Given the description of an element on the screen output the (x, y) to click on. 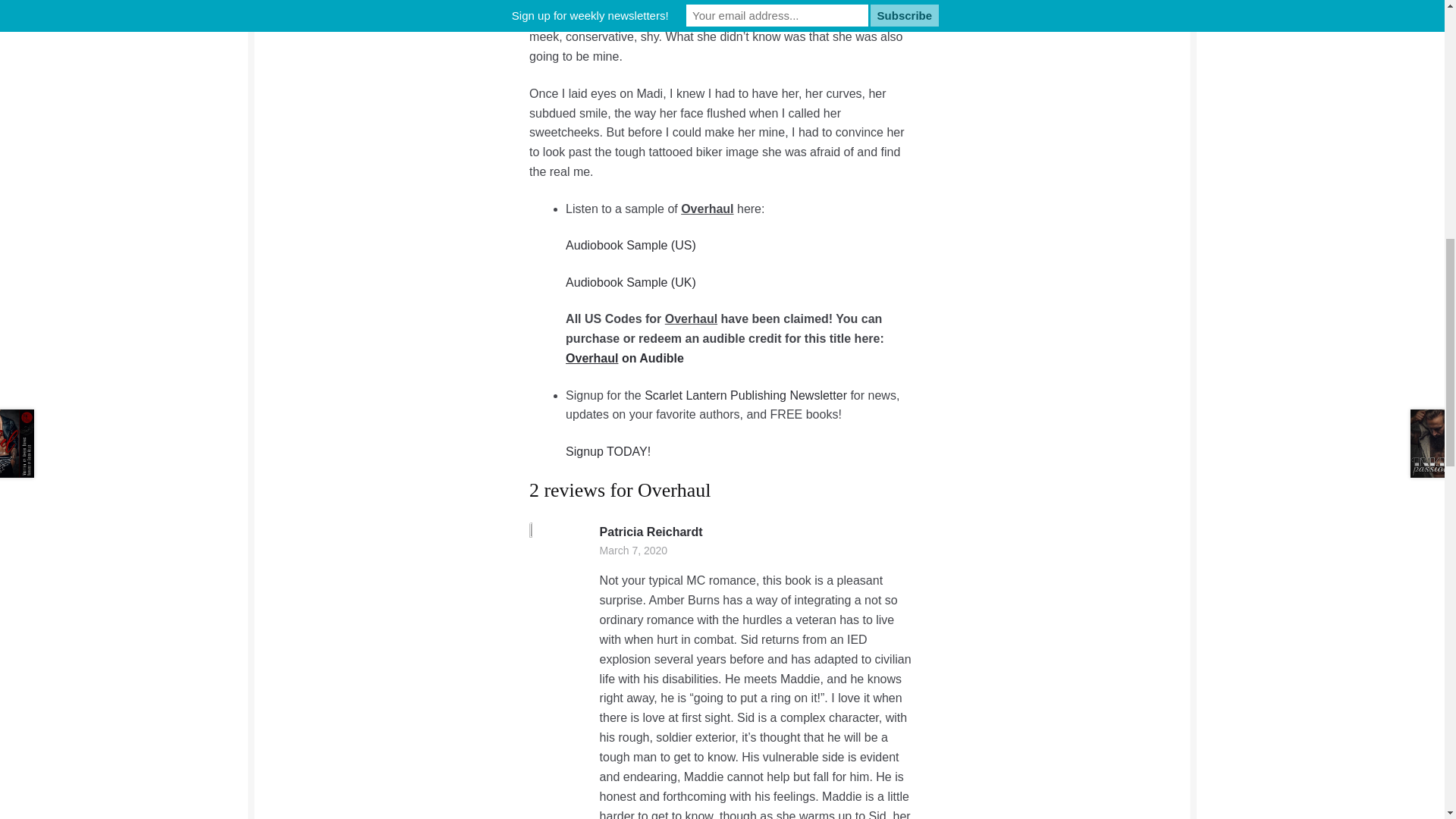
Scarlet Lantern Publishing Newsletter (746, 395)
Patricia Reichardt (651, 531)
Signup TODAY! (608, 451)
Overhaul on Audible (625, 358)
